Given the description of an element on the screen output the (x, y) to click on. 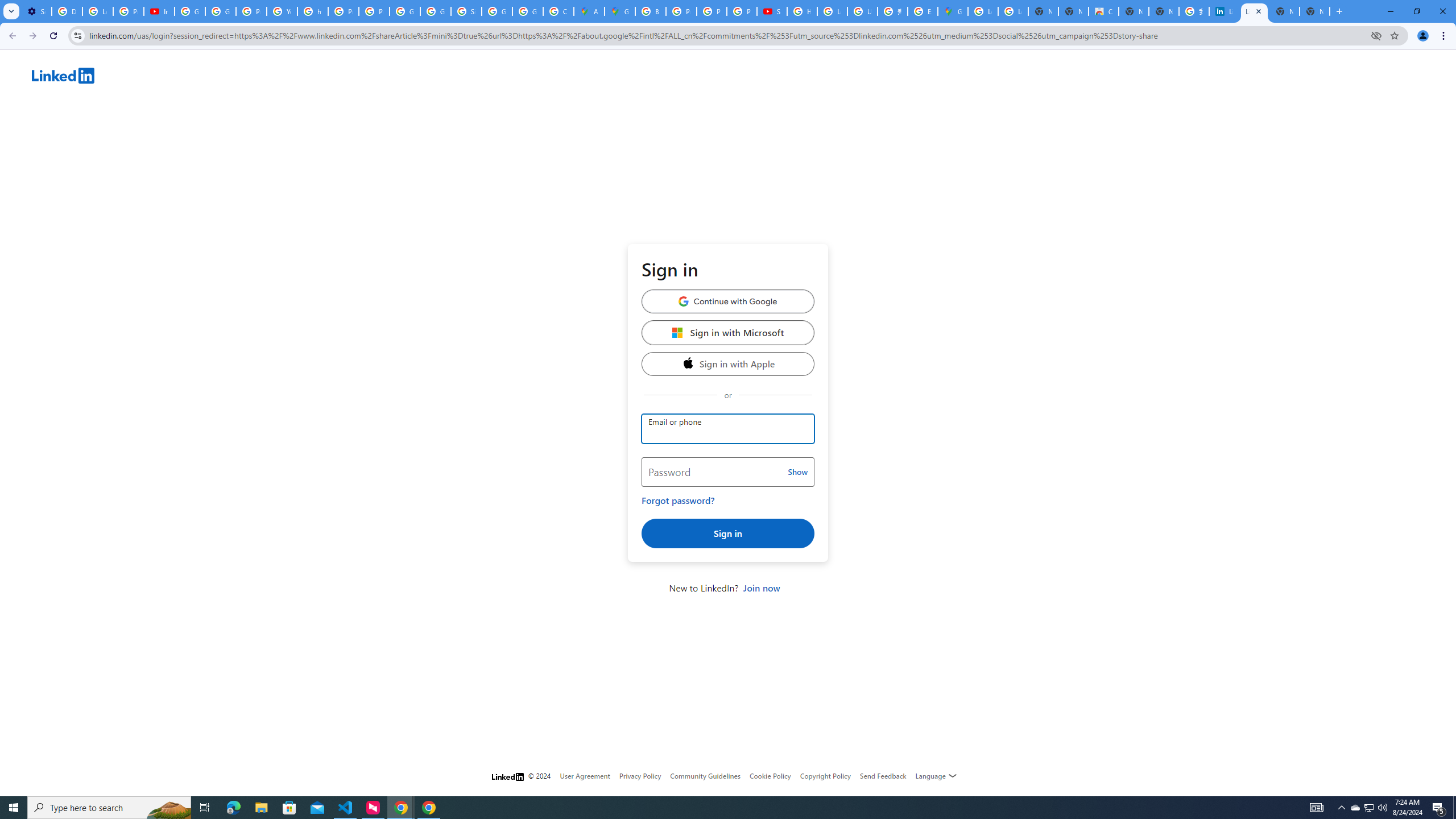
Blogger Policies and Guidelines - Transparency Center (650, 11)
Google Account Help (189, 11)
YouTube (282, 11)
https://scholar.google.com/ (312, 11)
Sign in - Google Accounts (465, 11)
Sign in with Apple (727, 363)
AutomationID: linkedin-logo (63, 75)
Explore new street-level details - Google Maps Help (922, 11)
Privacy Help Center - Policies Help (711, 11)
